Given the description of an element on the screen output the (x, y) to click on. 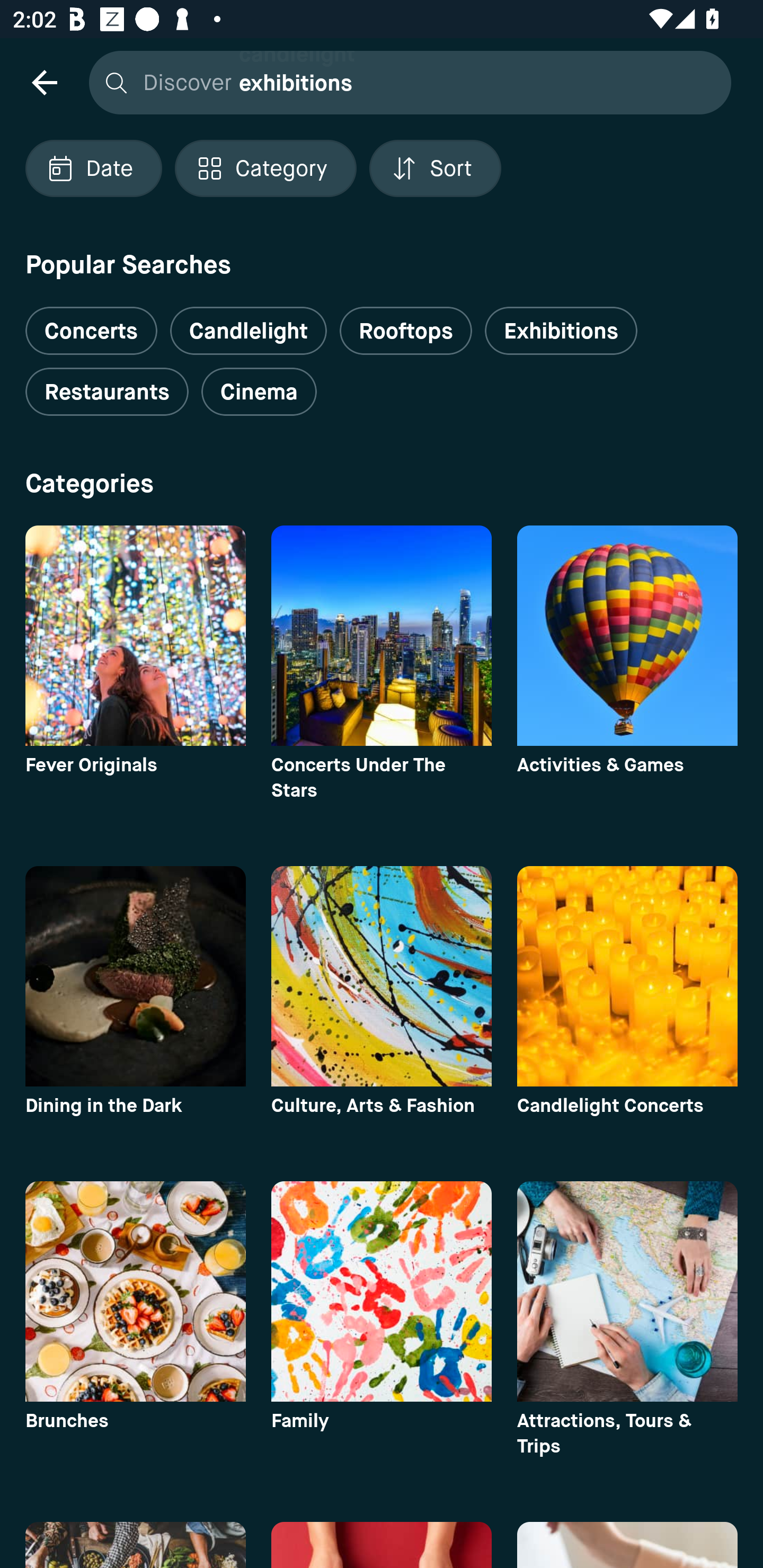
navigation icon (44, 81)
Discover candlelight exhibitions (405, 81)
Localized description Date (93, 168)
Localized description Category (265, 168)
Localized description Sort (435, 168)
Concerts (91, 323)
Candlelight (248, 330)
Rooftops (405, 330)
Exhibitions (560, 330)
Restaurants (106, 391)
Cinema (258, 391)
category image (135, 635)
category image (381, 635)
category image (627, 635)
category image (135, 975)
category image (381, 975)
category image (627, 975)
category image (135, 1290)
category image (381, 1290)
category image (627, 1290)
